Given the description of an element on the screen output the (x, y) to click on. 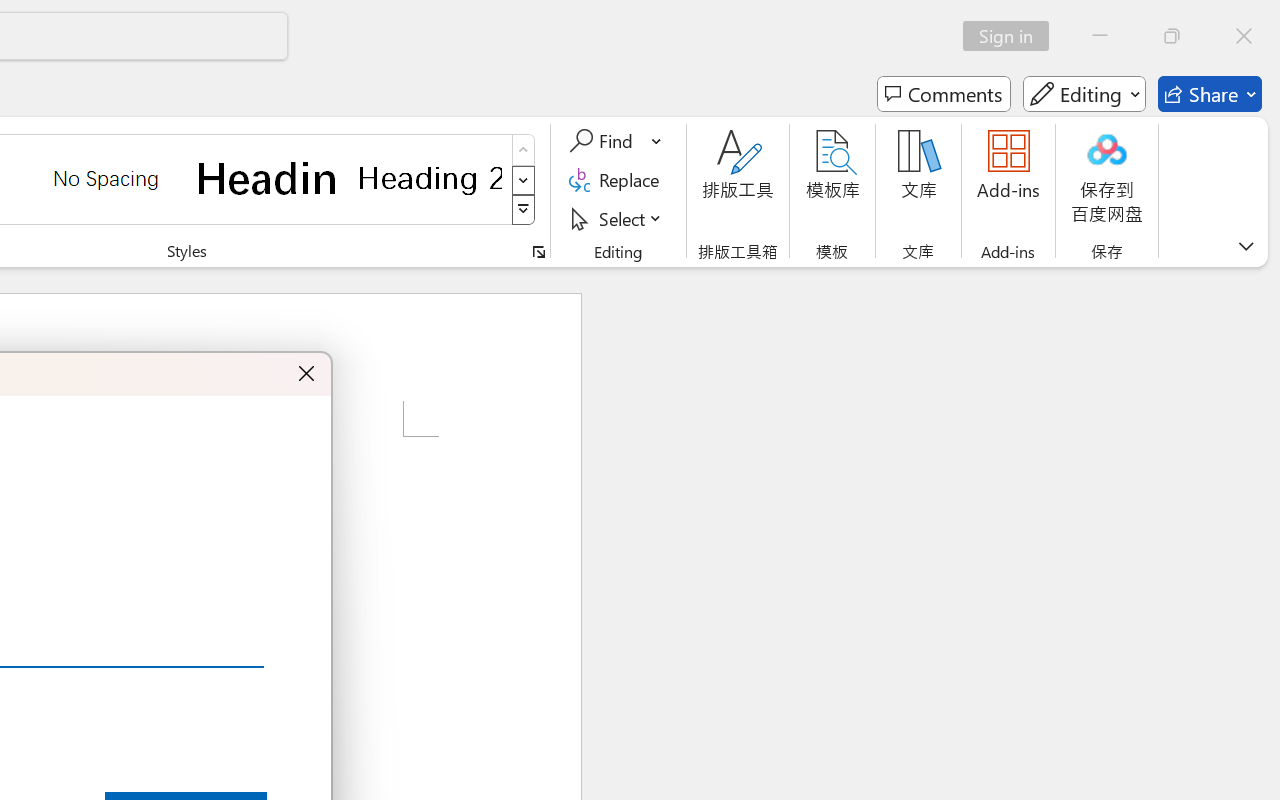
Sign in (1012, 35)
